Given the description of an element on the screen output the (x, y) to click on. 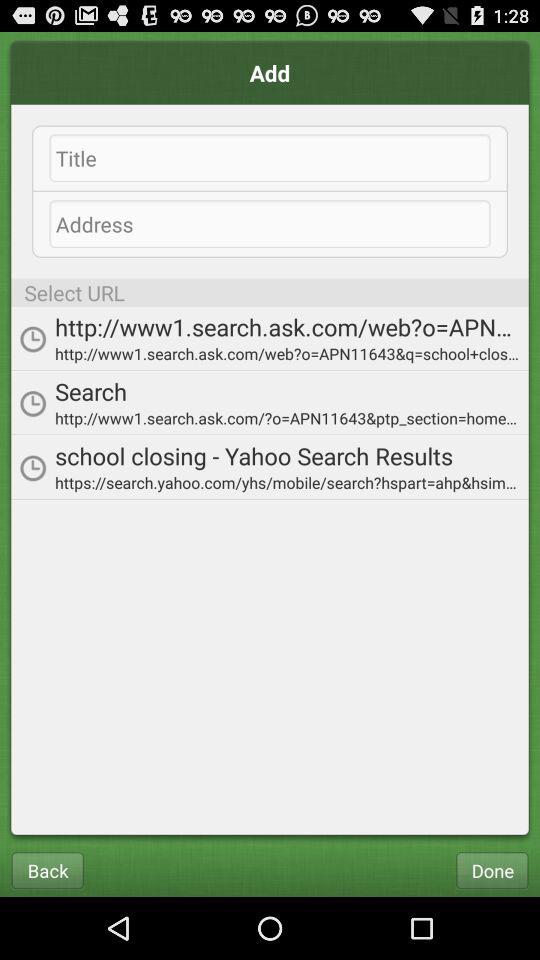
open the done (492, 870)
